Given the description of an element on the screen output the (x, y) to click on. 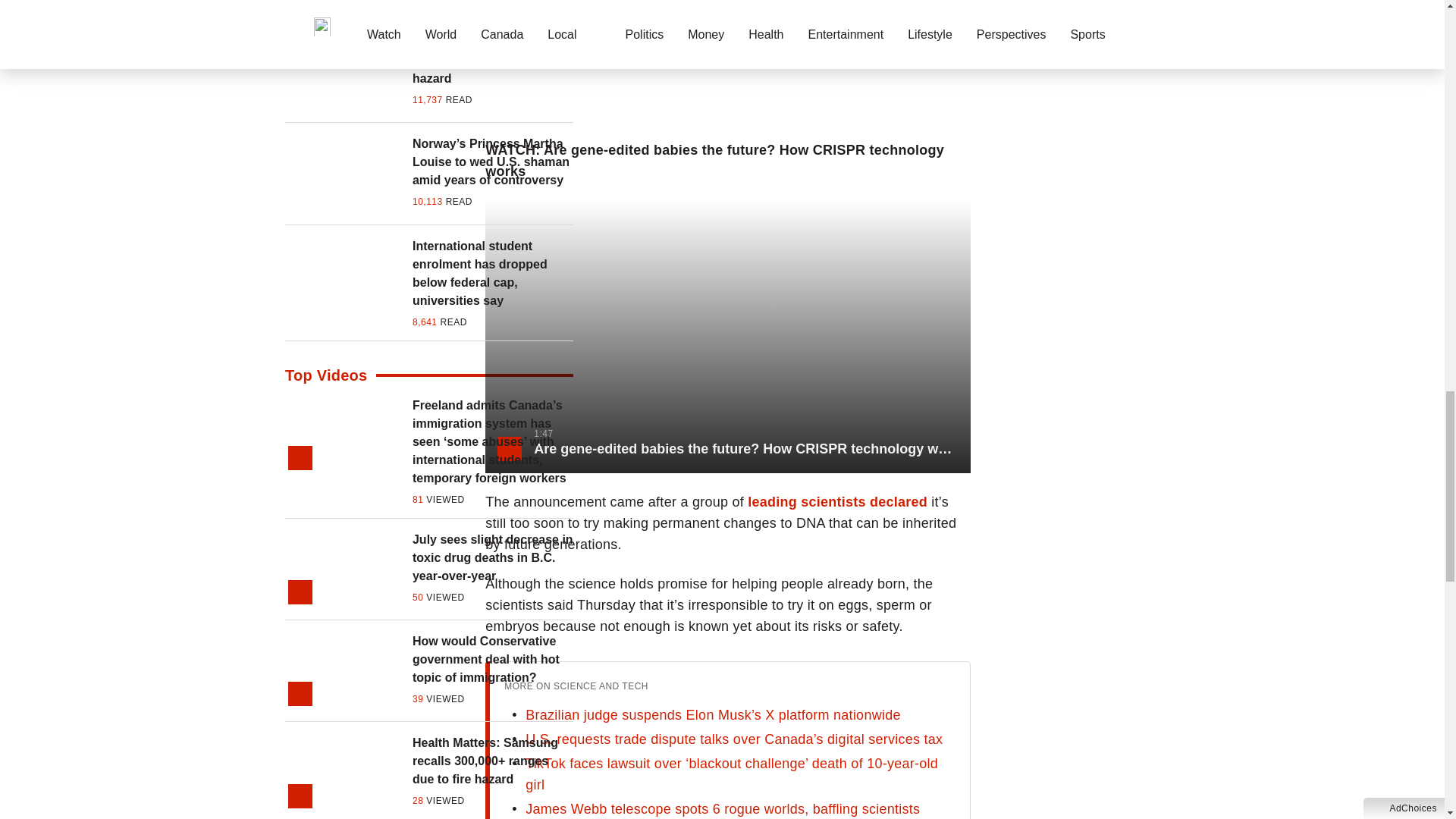
Over 300K Samsung stoves in Canada recalled over fire hazard (492, 60)
